Given the description of an element on the screen output the (x, y) to click on. 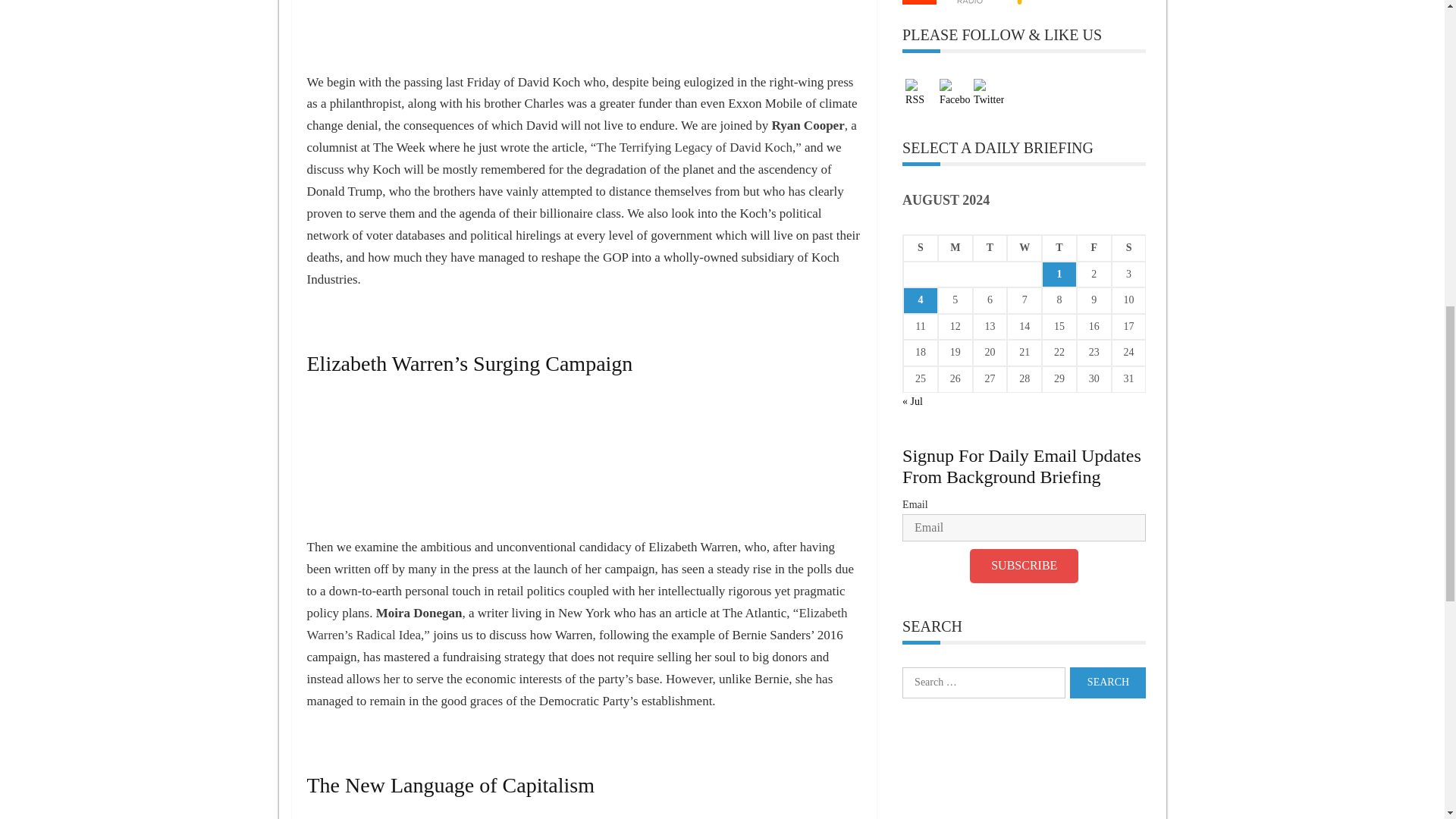
Facebook (954, 93)
Tuesday (989, 248)
Thursday (1059, 248)
Search (1107, 682)
Ryan Cooper, (809, 124)
Search (1107, 682)
Sunday (919, 248)
RSS (920, 93)
Wednesday (1024, 248)
Saturday (1129, 248)
Friday (1094, 248)
Monday (954, 248)
Twitter (989, 93)
Moira Donegan, (420, 612)
